Given the description of an element on the screen output the (x, y) to click on. 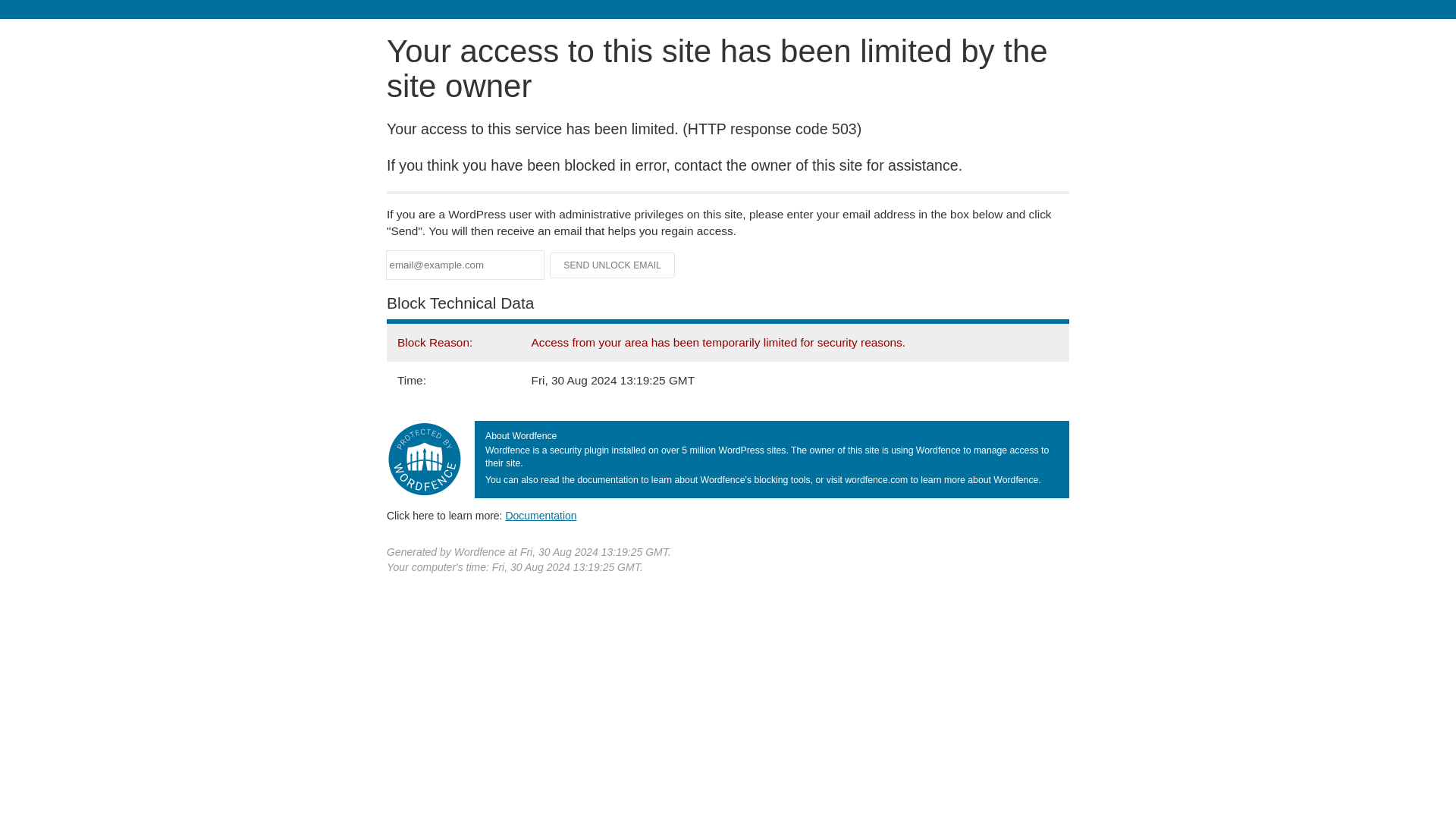
Send Unlock Email (612, 265)
Send Unlock Email (612, 265)
Documentation (540, 515)
